Given the description of an element on the screen output the (x, y) to click on. 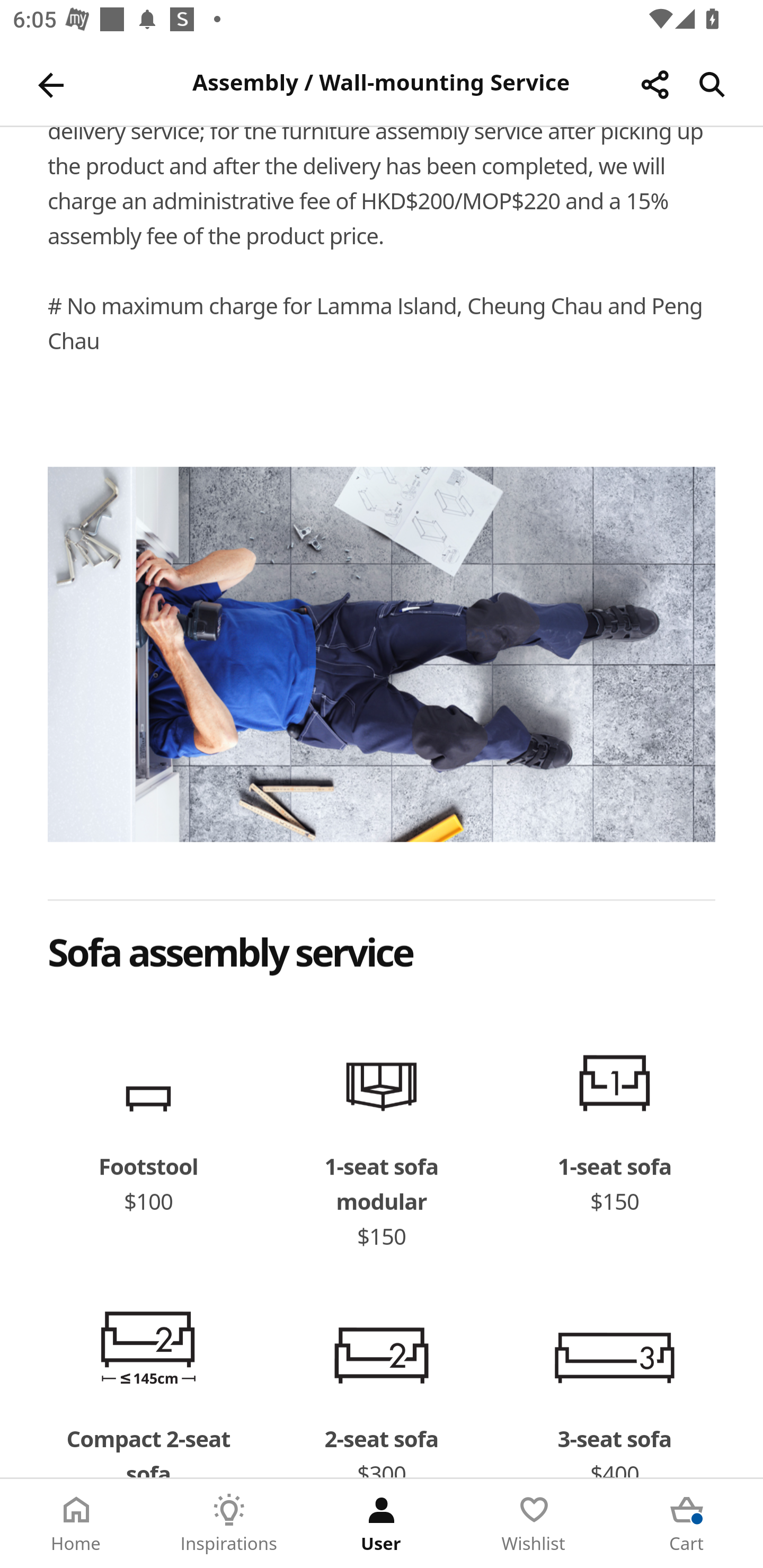
Home
Tab 1 of 5 (76, 1522)
Inspirations
Tab 2 of 5 (228, 1522)
User
Tab 3 of 5 (381, 1522)
Wishlist
Tab 4 of 5 (533, 1522)
Cart
Tab 5 of 5 (686, 1522)
